Given the description of an element on the screen output the (x, y) to click on. 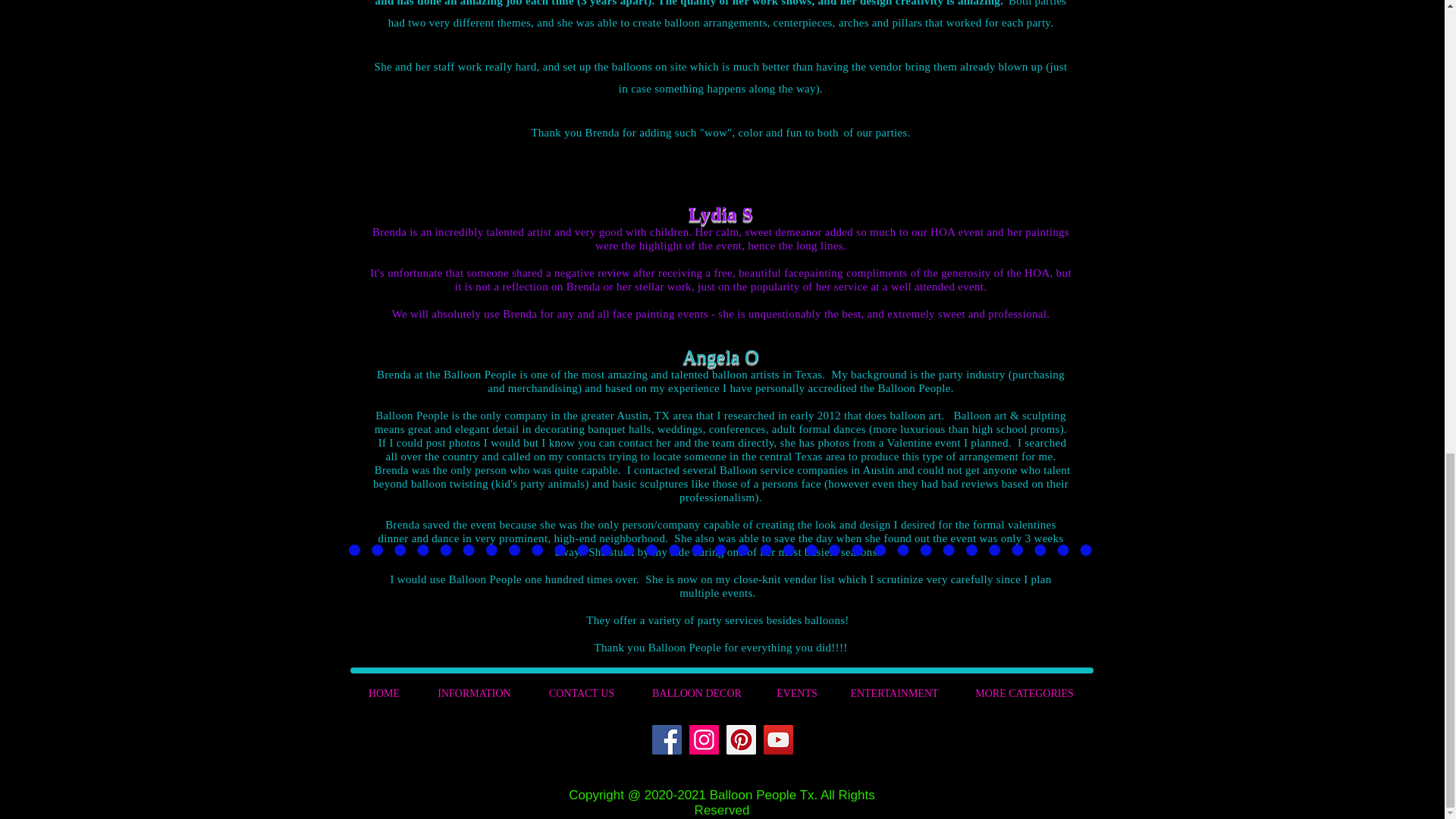
CONTACT US (582, 693)
HOME (384, 693)
ENTERTAINMENT (894, 693)
EVENTS (796, 693)
BALLOON DECOR (696, 693)
INFORMATION (474, 693)
